Given the description of an element on the screen output the (x, y) to click on. 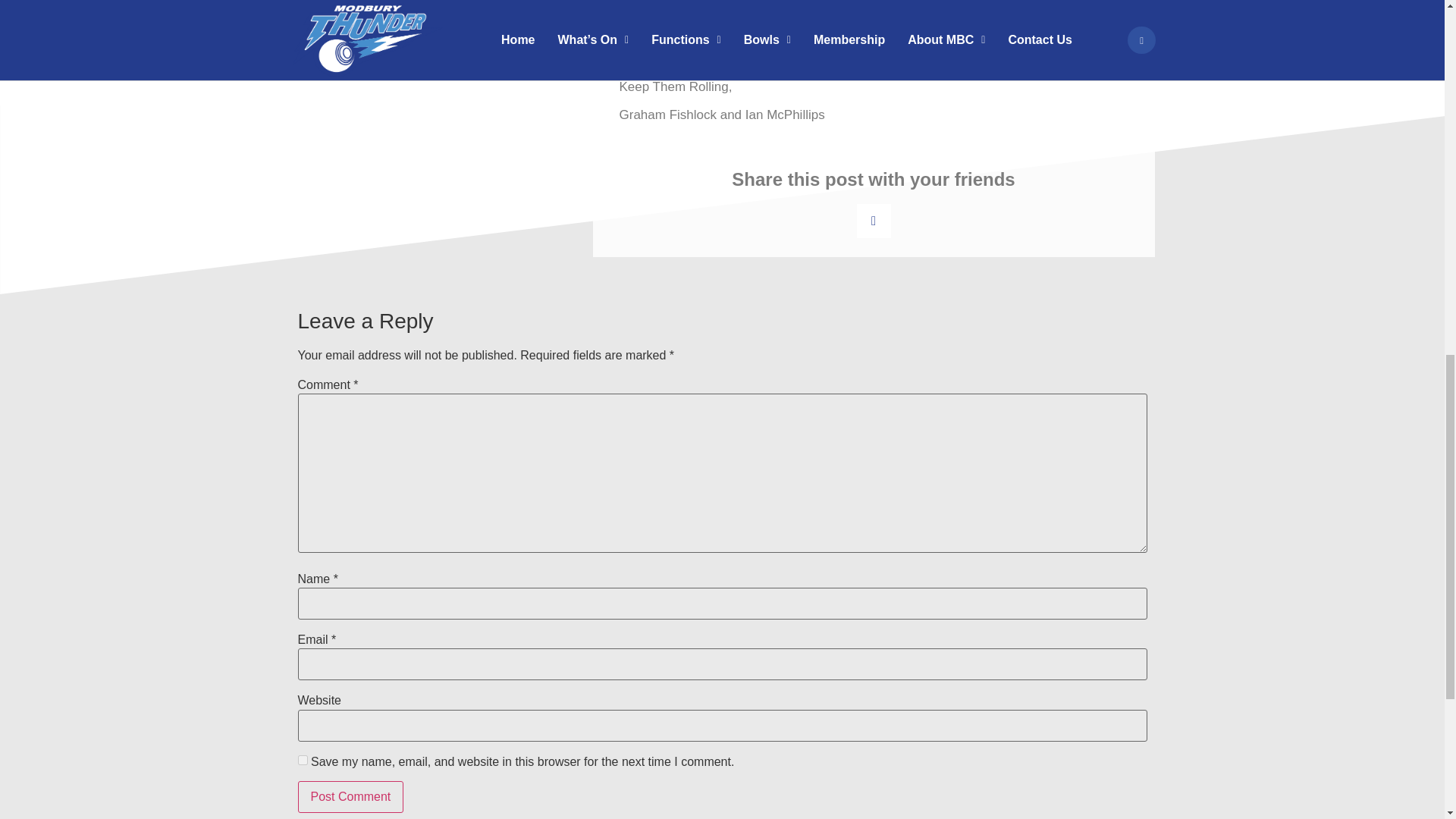
Post Comment (350, 797)
yes (302, 759)
